Given the description of an element on the screen output the (x, y) to click on. 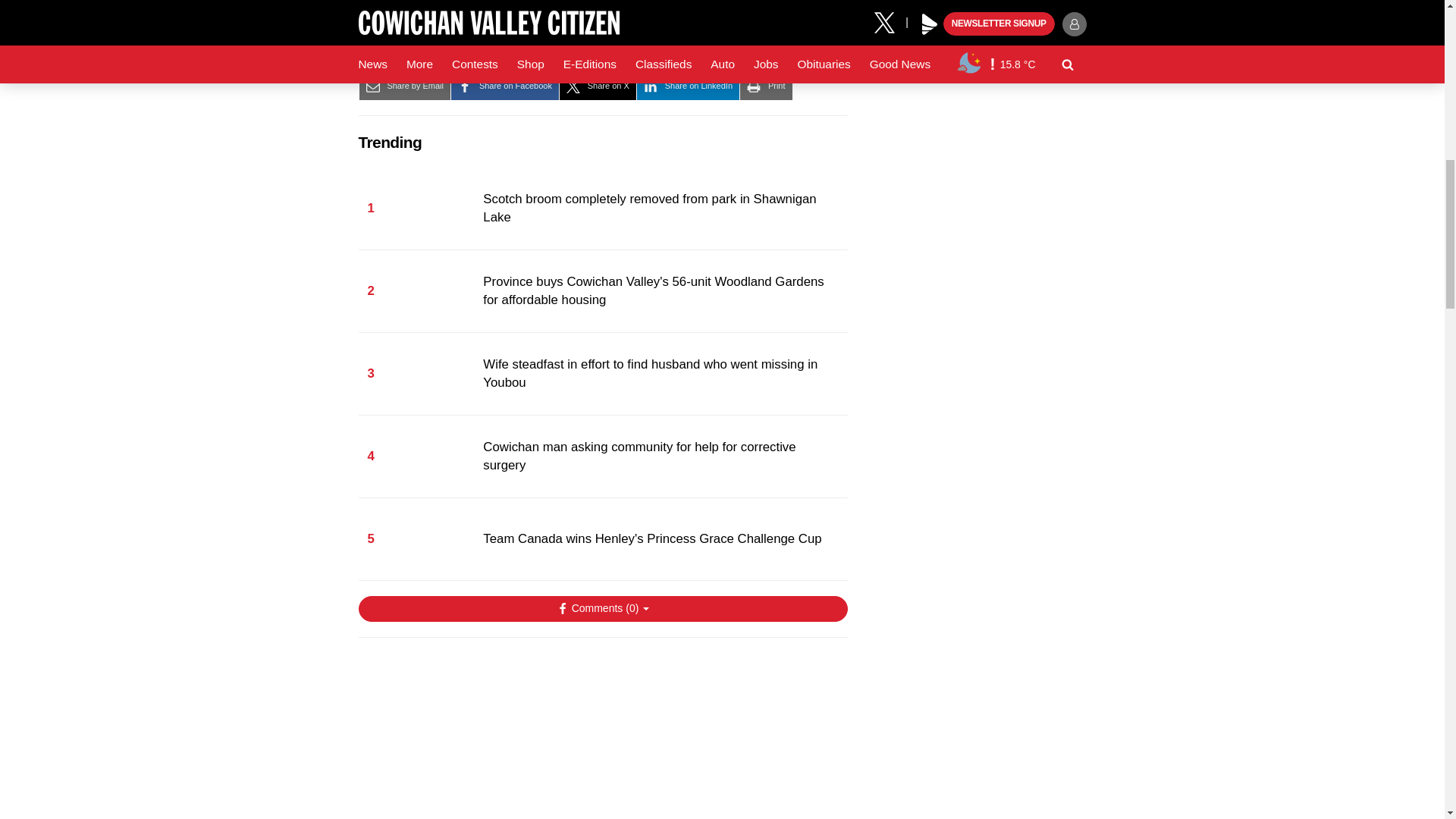
3rd party ad content (602, 735)
Show Comments (602, 608)
